Given the description of an element on the screen output the (x, y) to click on. 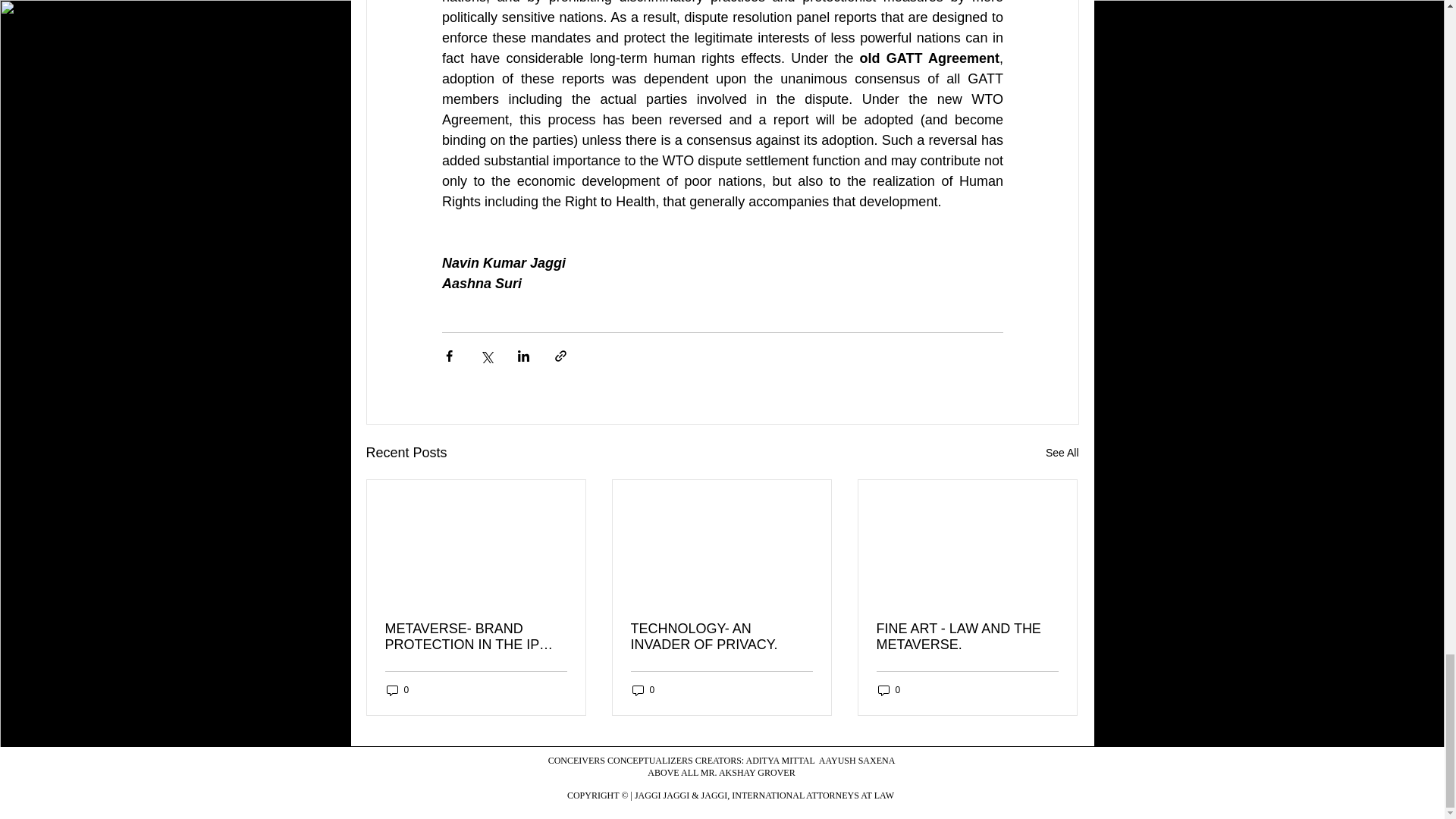
0 (397, 689)
See All (1061, 453)
0 (643, 689)
TECHNOLOGY- AN INVADER OF PRIVACY. (721, 636)
0 (889, 689)
METAVERSE- BRAND PROTECTION IN THE IP LAW. (476, 636)
FINE ART - LAW AND THE METAVERSE. (967, 636)
